Given the description of an element on the screen output the (x, y) to click on. 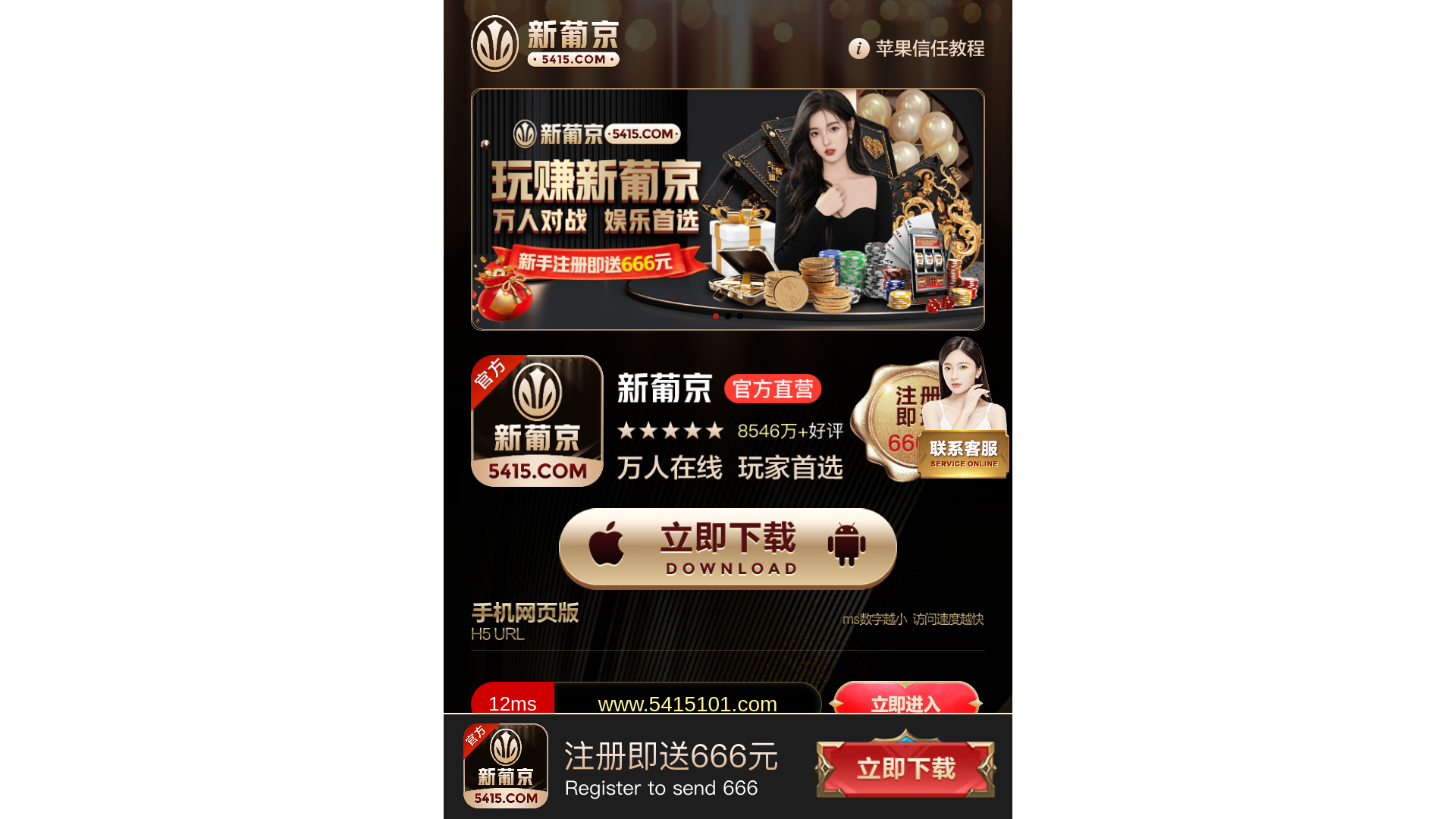
17ms
www.5415102.com Element type: text (727, 775)
